Given the description of an element on the screen output the (x, y) to click on. 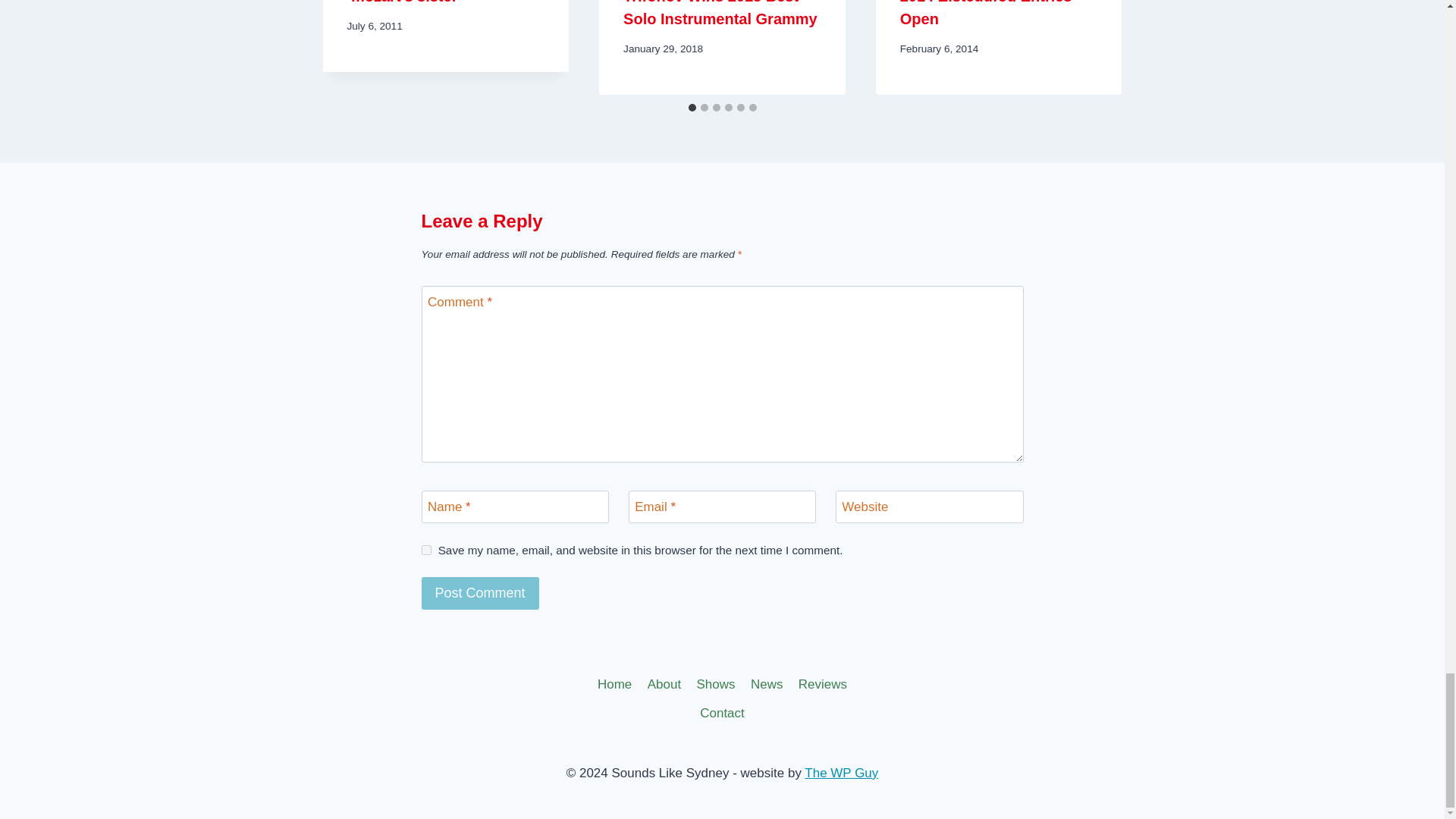
yes (426, 550)
Post Comment (480, 593)
